Given the description of an element on the screen output the (x, y) to click on. 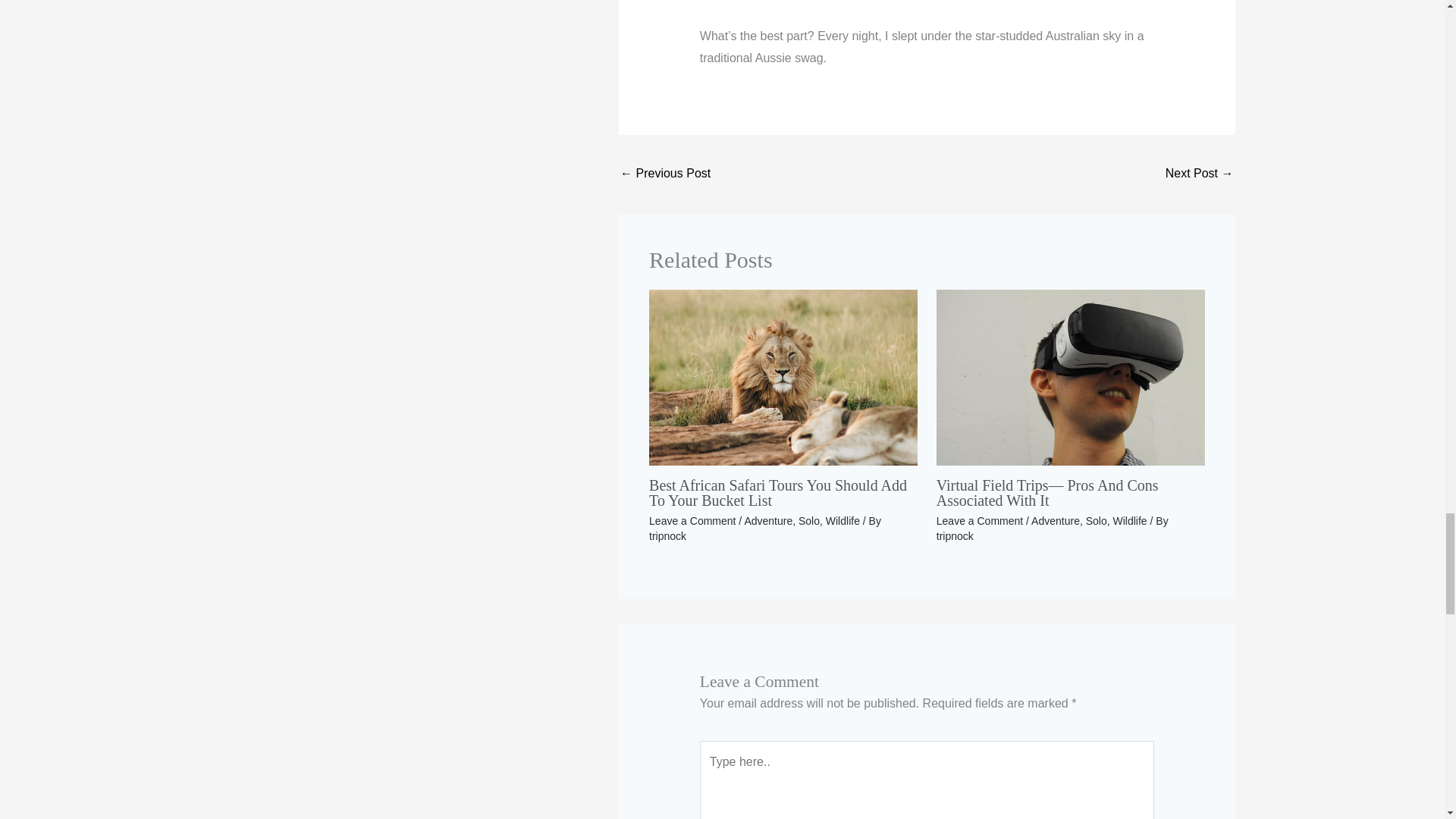
View all posts by tripnock (667, 535)
View all posts by tripnock (955, 535)
Leave a Comment (692, 521)
Best African Safari Tours You Should Add To Your Bucket List (778, 492)
Marco Polo Club - Know All The Basic Knowledge Of It (665, 174)
